Given the description of an element on the screen output the (x, y) to click on. 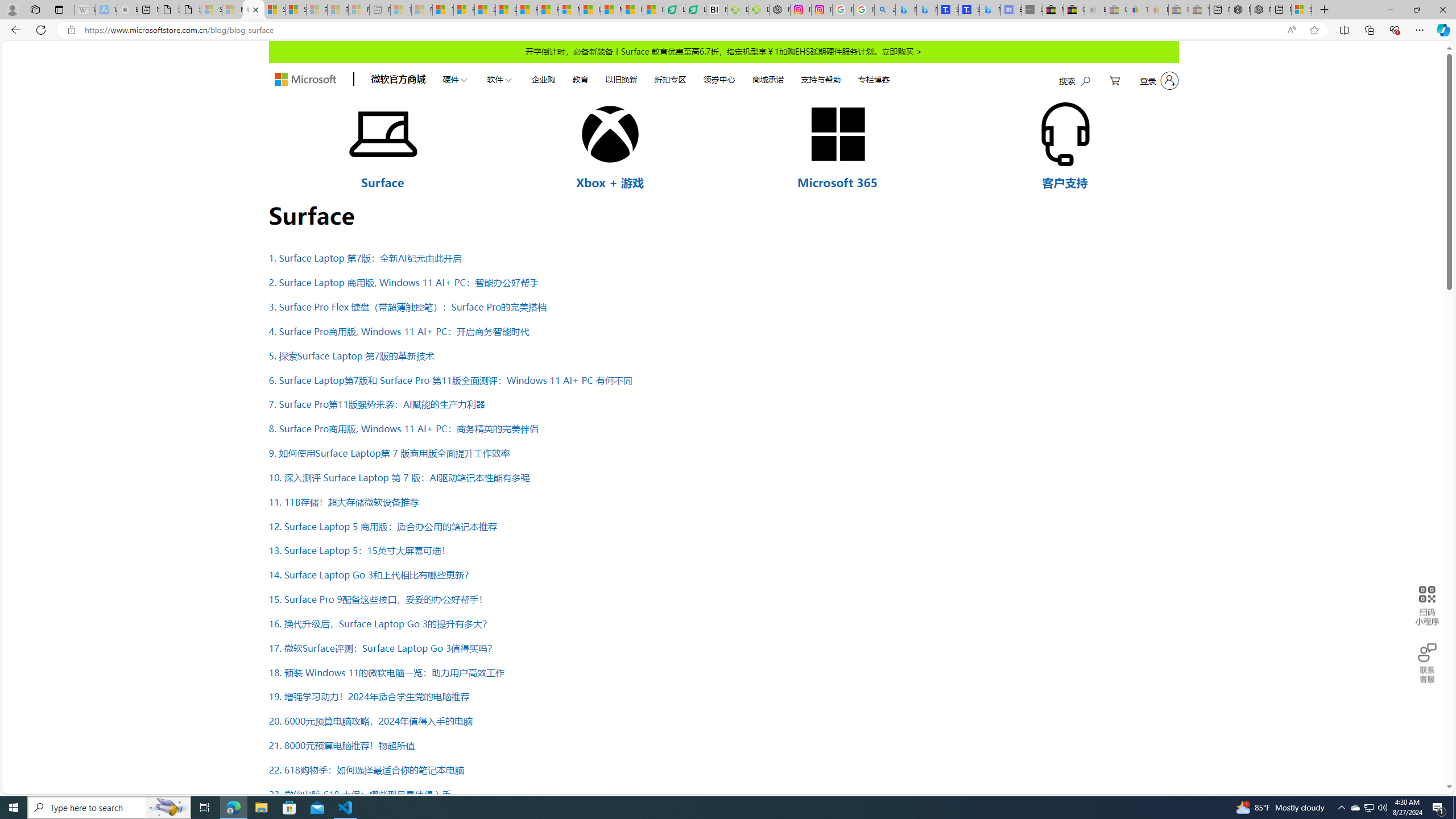
Yard, Garden & Outdoor Living - Sleeping (1198, 9)
store logo (304, 79)
